Given the description of an element on the screen output the (x, y) to click on. 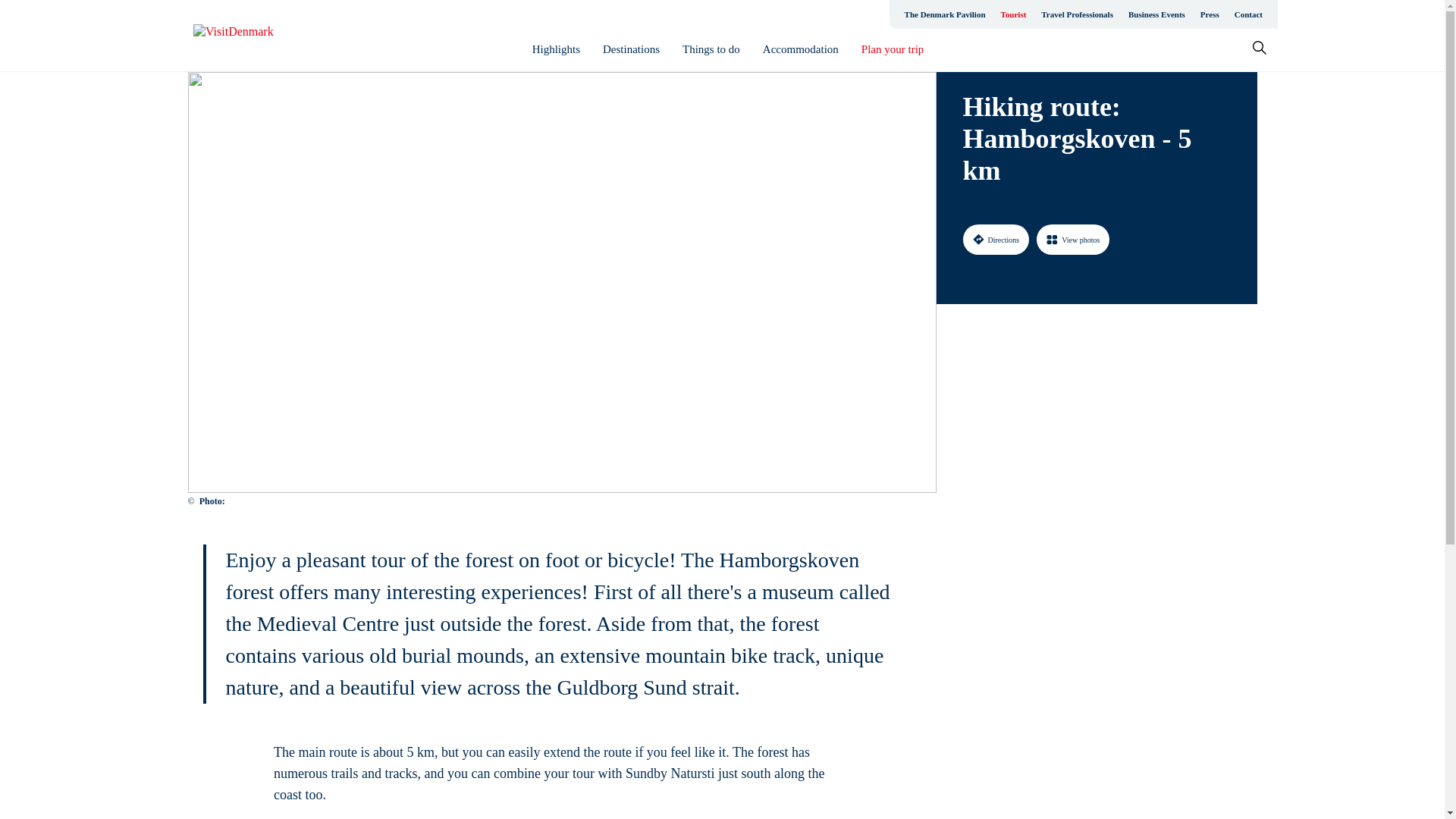
Travel Professionals (1077, 14)
Tourist (1012, 14)
Go to homepage (253, 35)
The Denmark Pavilion (944, 14)
Accommodation (800, 49)
Highlights (555, 49)
Contact (1248, 14)
Press (1209, 14)
Business Events (1156, 14)
View photos (1072, 239)
Destinations (630, 49)
Things to do (710, 49)
Directions (995, 239)
Plan your trip (892, 49)
